Given the description of an element on the screen output the (x, y) to click on. 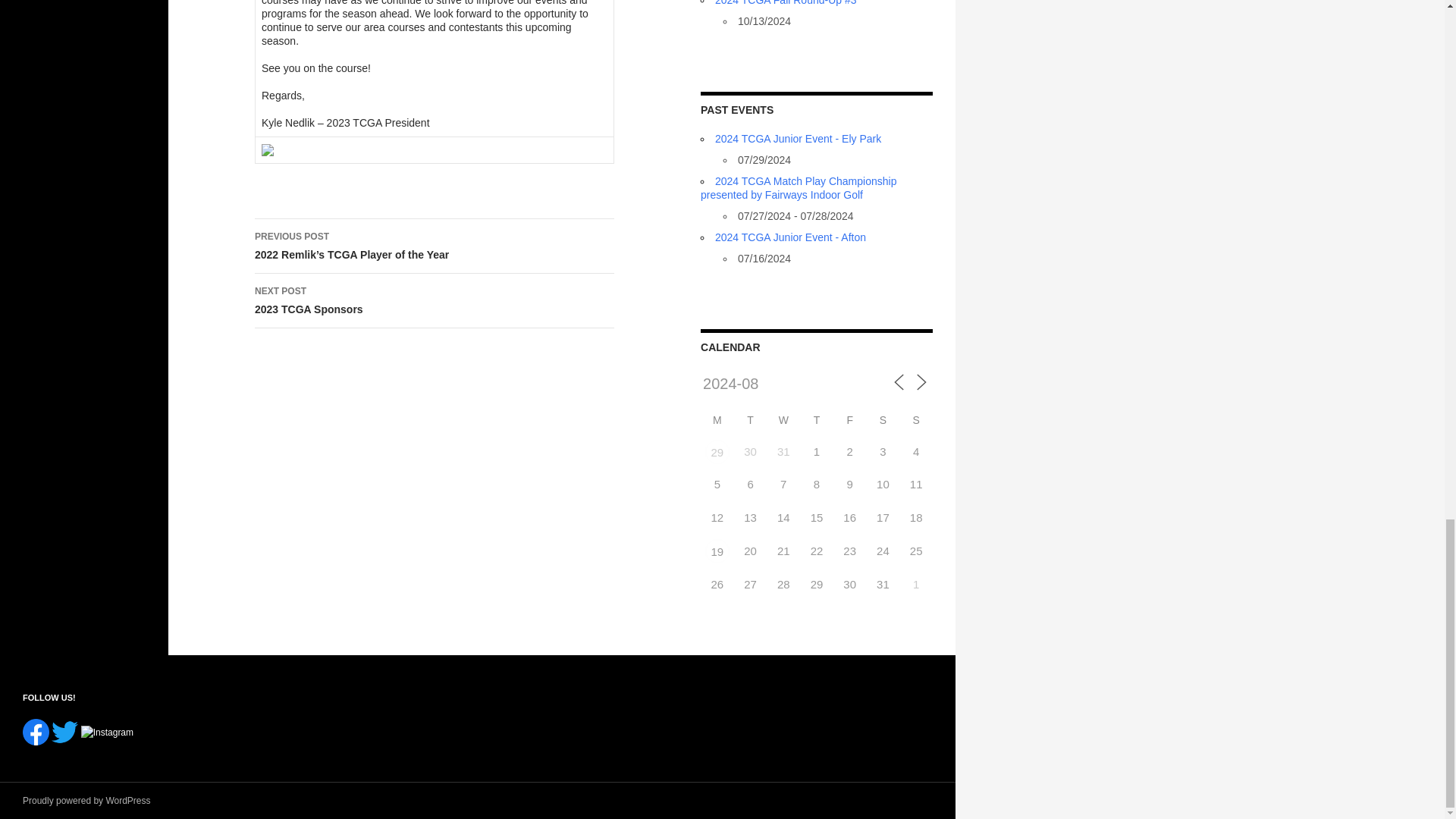
Instagram (107, 732)
2024 Scoville-Meno TCGA Junior Tour Championship (716, 550)
2024-08 (765, 384)
Twitter (64, 732)
Facebook (36, 732)
